Given the description of an element on the screen output the (x, y) to click on. 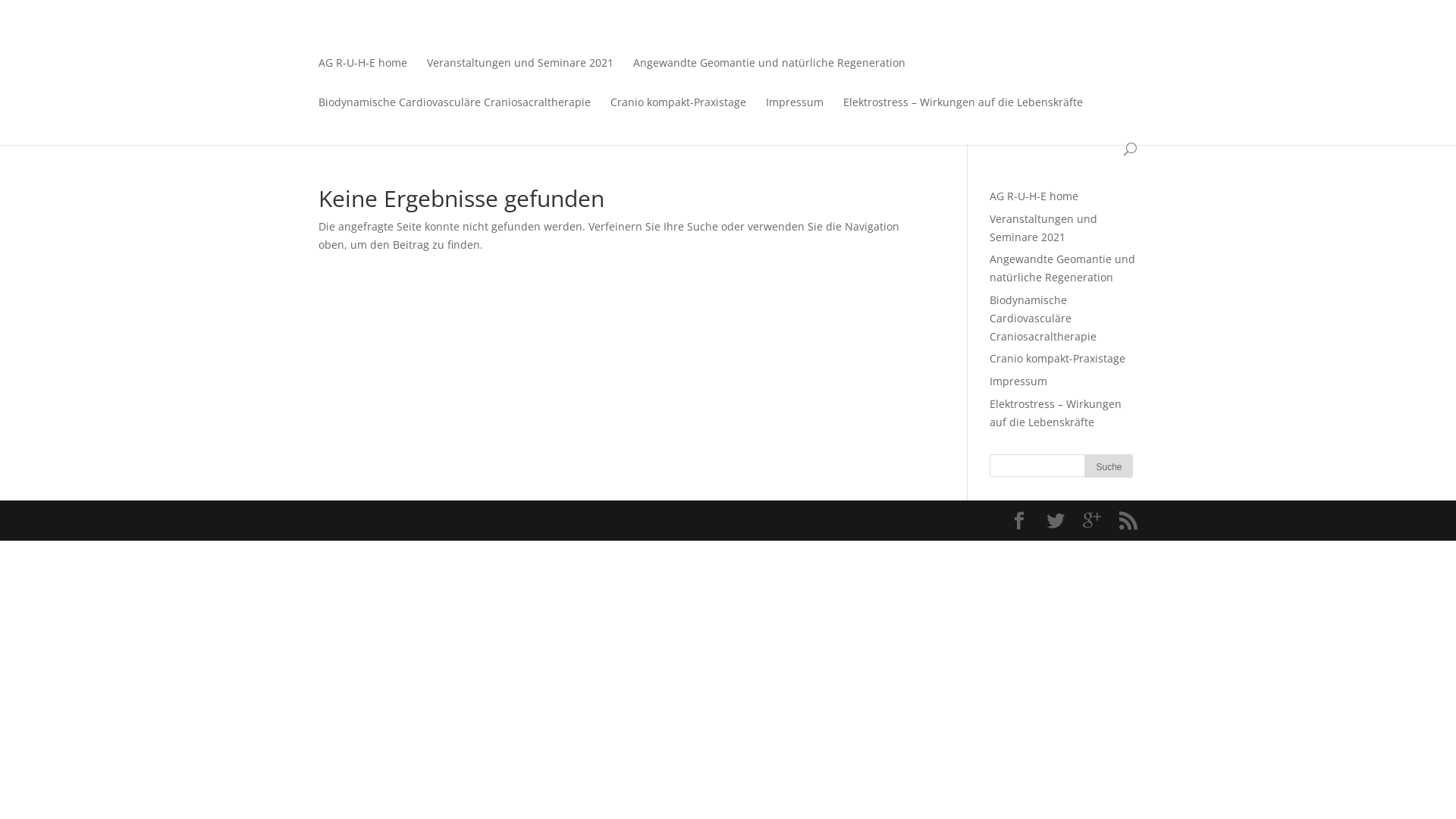
Cranio kompakt-Praxistage Element type: text (678, 112)
AG R-U-H-E home Element type: text (362, 73)
Veranstaltungen und Seminare 2021 Element type: text (519, 73)
Suche Element type: text (1108, 465)
Impressum Element type: text (794, 112)
Cranio kompakt-Praxistage Element type: text (1057, 358)
Veranstaltungen und Seminare 2021 Element type: text (1043, 227)
Impressum Element type: text (1018, 380)
AG R-U-H-E home Element type: text (1033, 195)
